Given the description of an element on the screen output the (x, y) to click on. 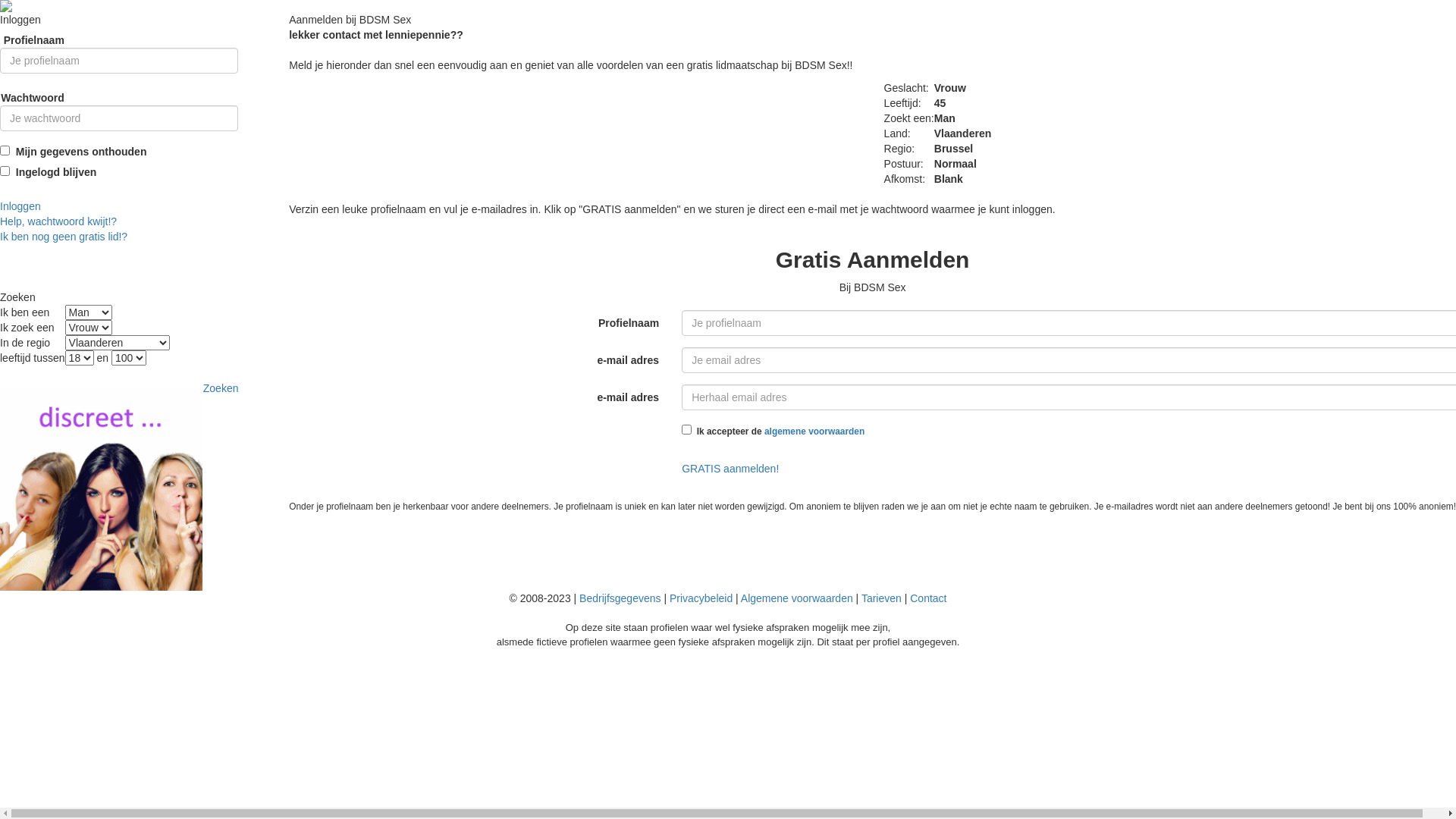
Privacybeleid Element type: text (700, 598)
Ik ben nog geen gratis lid!? Element type: text (63, 236)
algemene voorwaarden Element type: text (814, 431)
Zoeken Element type: text (220, 388)
GRATIS aanmelden! Element type: text (729, 468)
Tarieven Element type: text (881, 598)
Inloggen Element type: text (20, 206)
Algemene voorwaarden Element type: text (796, 598)
Bedrijfsgegevens Element type: text (619, 598)
Help, wachtwoord kwijt!? Element type: text (58, 221)
Contact Element type: text (928, 598)
